Given the description of an element on the screen output the (x, y) to click on. 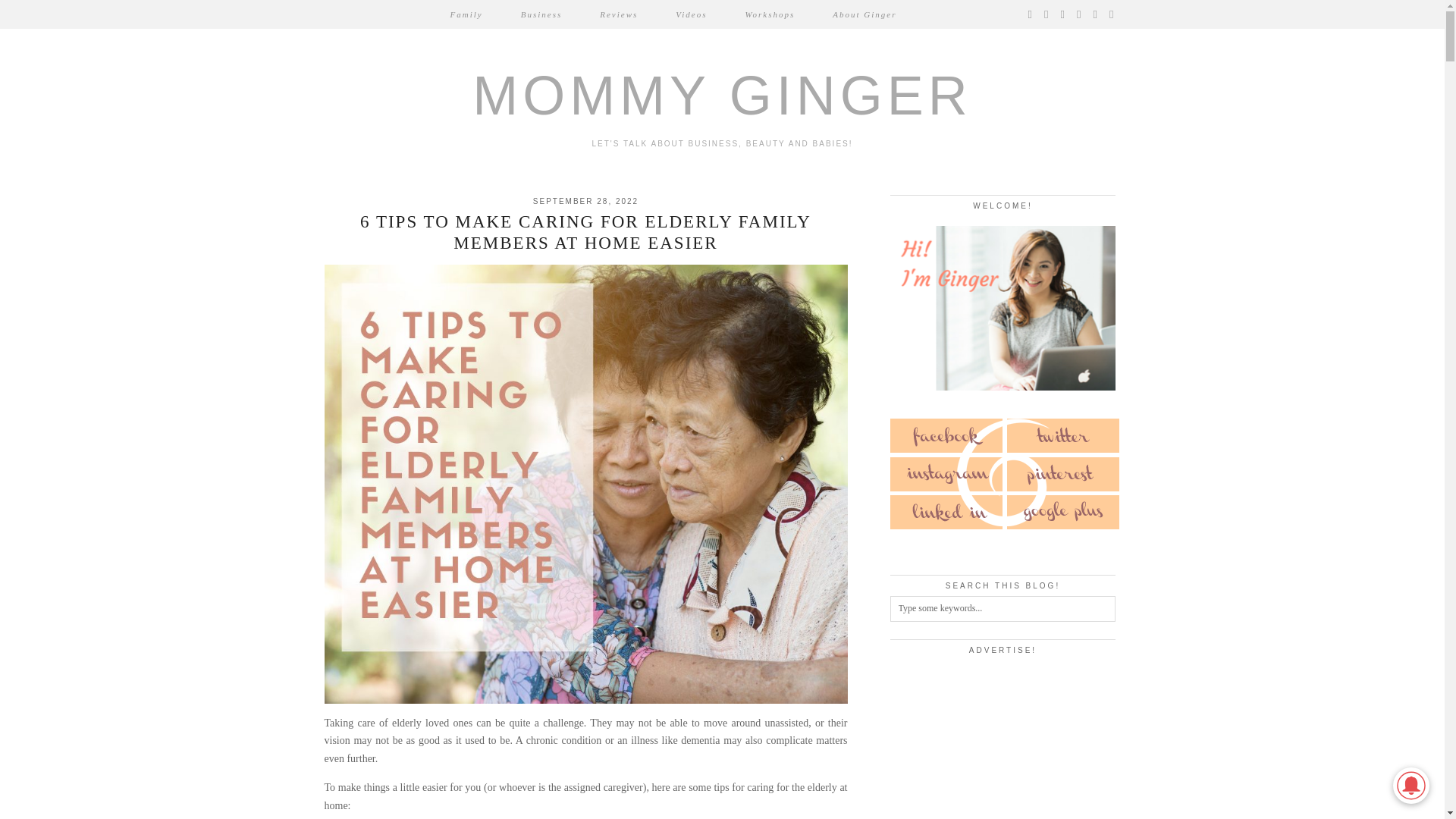
Family (466, 14)
MOMMY GINGER (721, 95)
Business (541, 14)
Mommy Ginger (721, 95)
Reviews (618, 14)
